Given the description of an element on the screen output the (x, y) to click on. 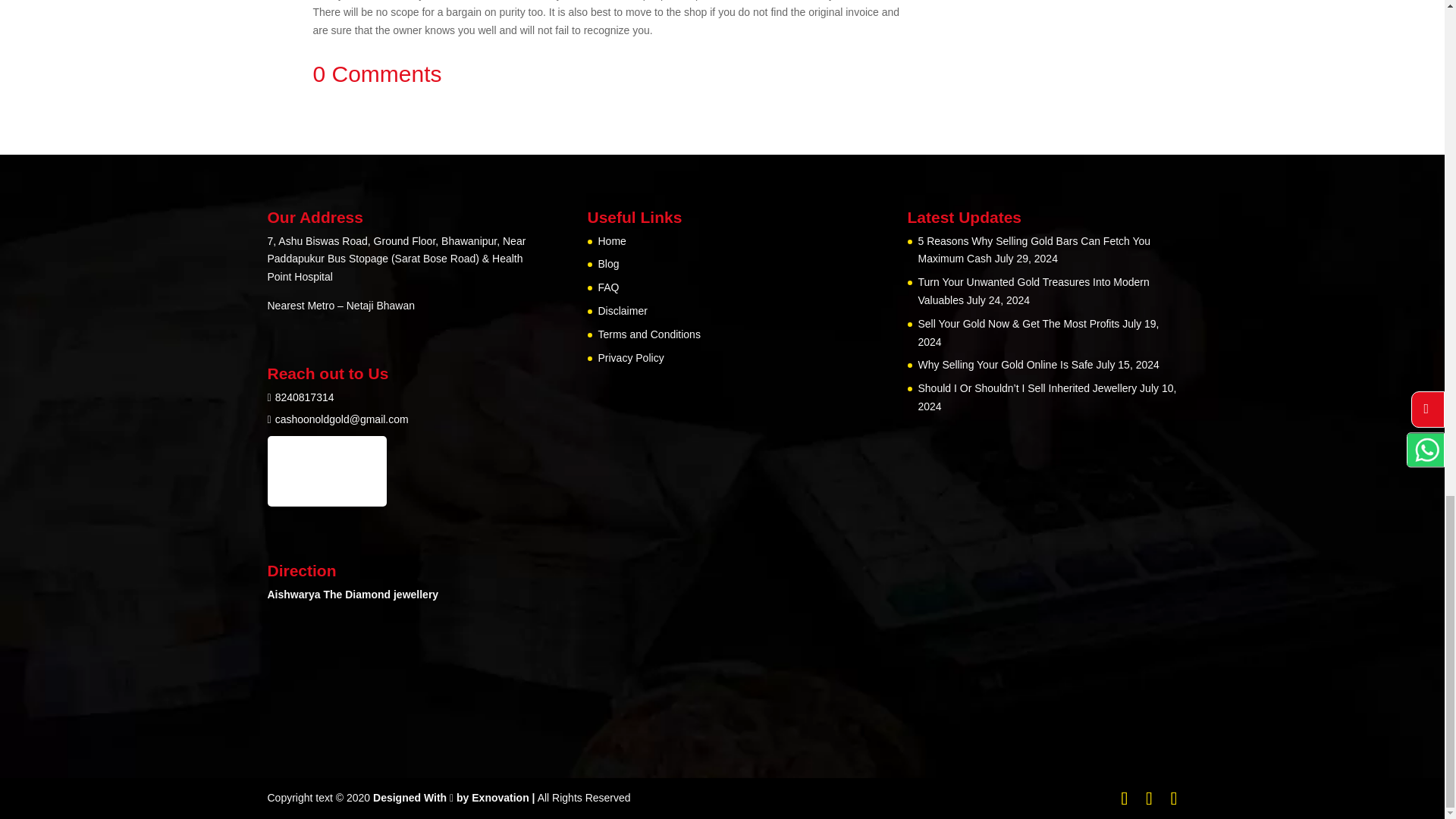
Blog (607, 263)
Turn Your Unwanted Gold Treasures Into Modern Valuables (1032, 291)
Home (611, 241)
Privacy Policy (629, 357)
Why Selling Your Gold Online Is Safe (1005, 364)
Disclaimer (621, 310)
5 Reasons Why Selling Gold Bars Can Fetch You Maximum Cash (1033, 250)
Terms and Conditions (648, 334)
FAQ (607, 287)
8240817314 (304, 397)
